Given the description of an element on the screen output the (x, y) to click on. 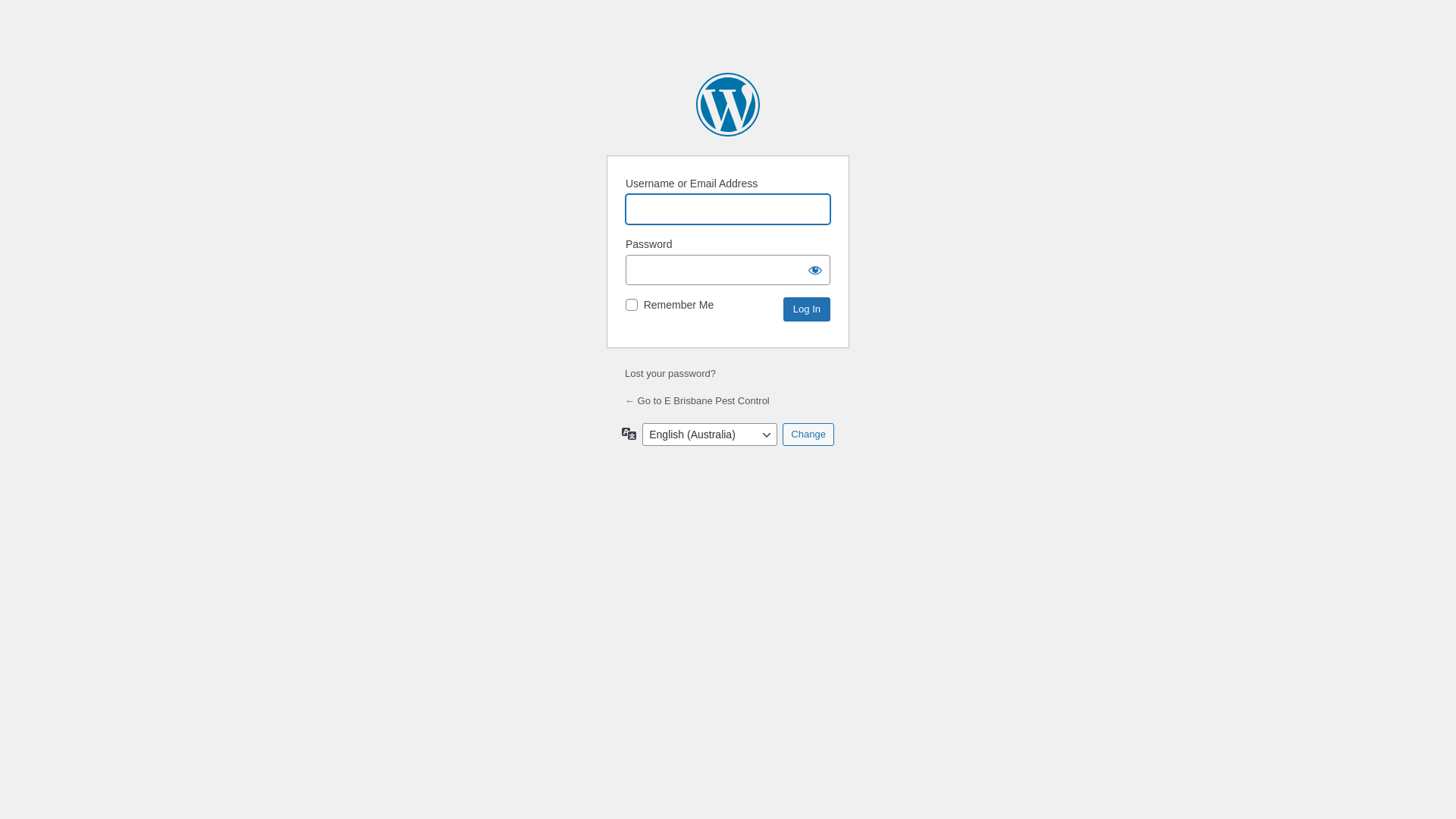
Lost your password? Element type: text (669, 373)
Change Element type: text (808, 434)
Powered by WordPress Element type: text (727, 104)
Log In Element type: text (806, 309)
